Given the description of an element on the screen output the (x, y) to click on. 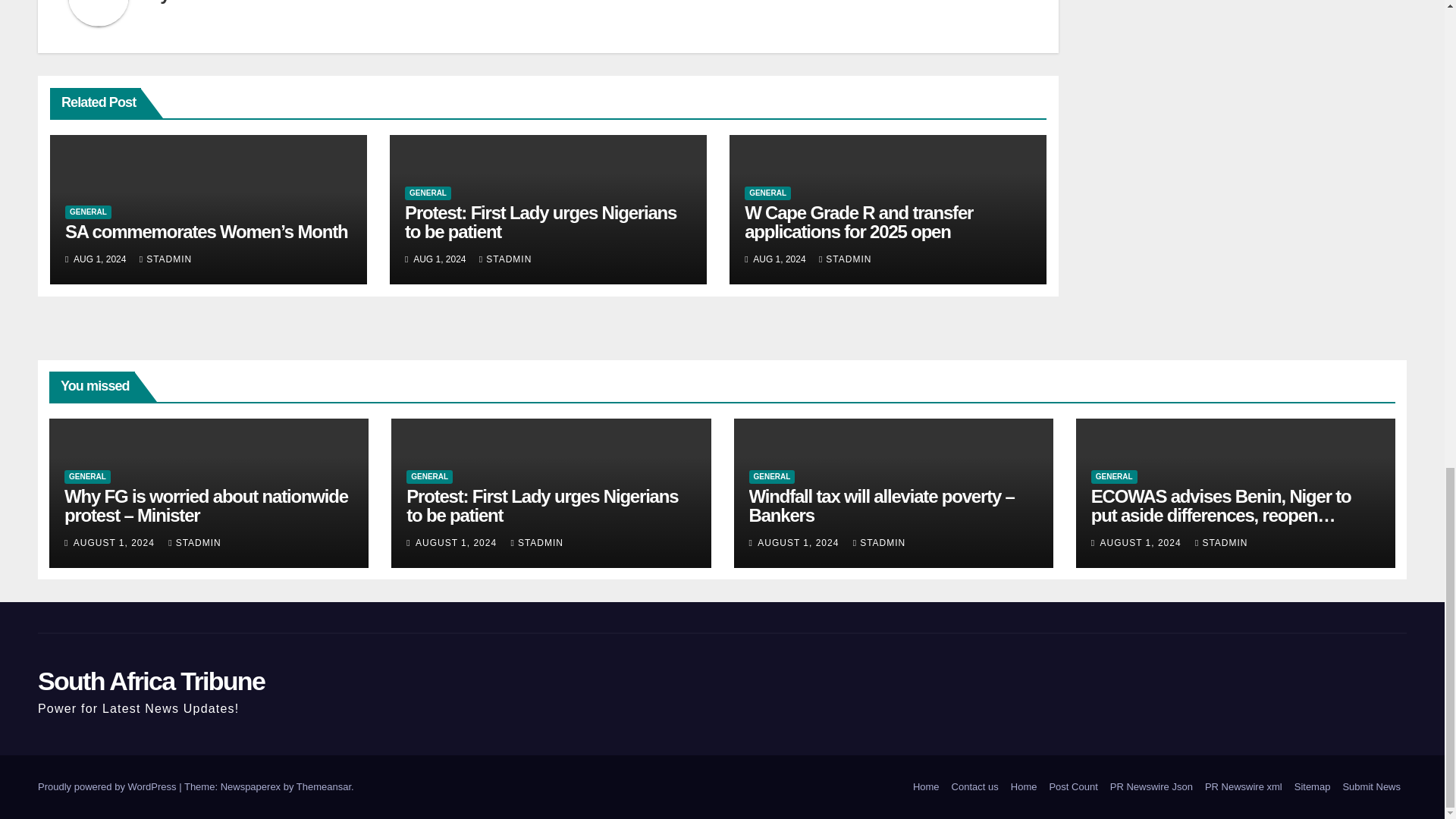
stadmin (205, 2)
GENERAL (88, 212)
